Given the description of an element on the screen output the (x, y) to click on. 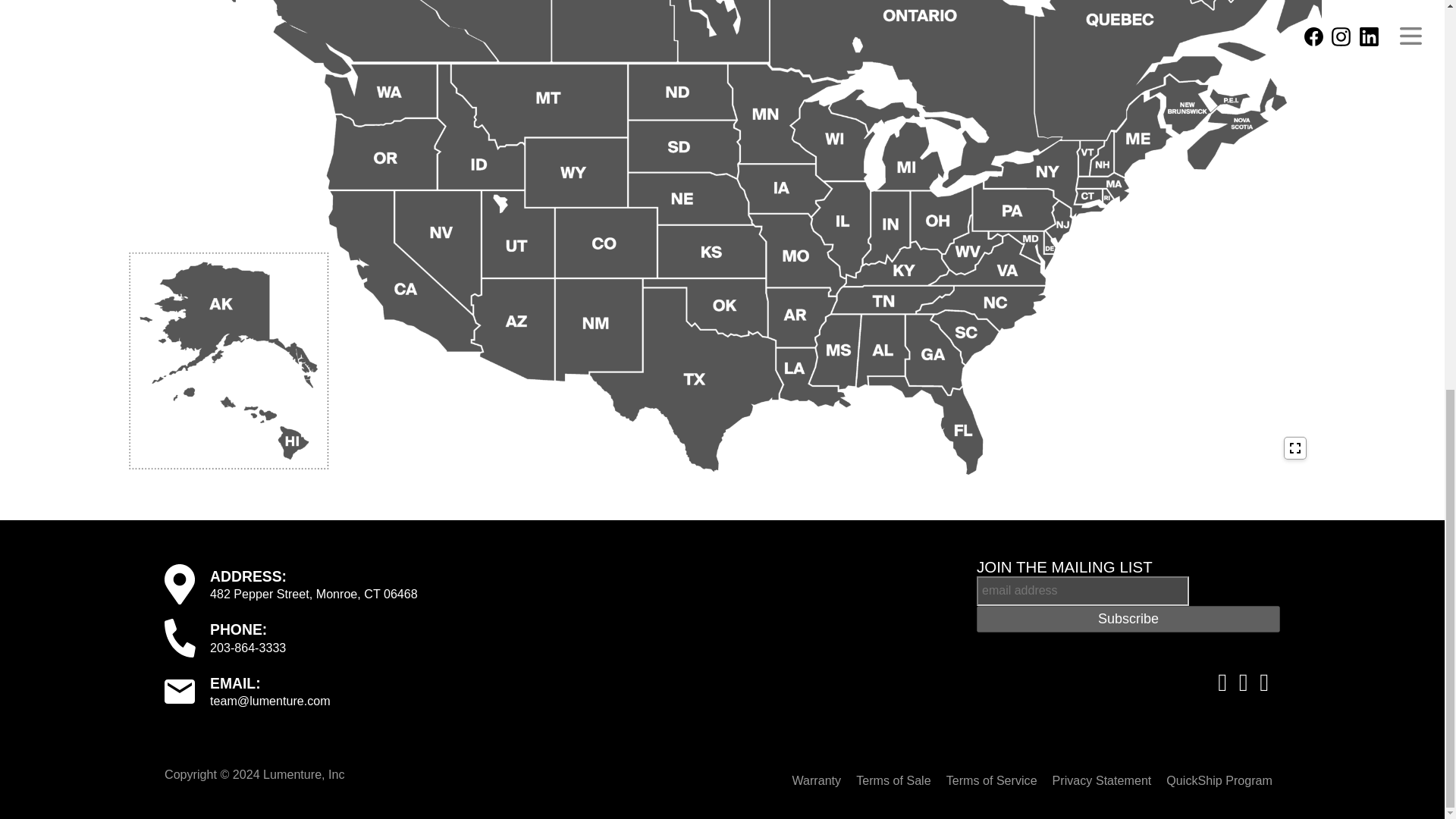
linkedin (1263, 682)
instagram (1243, 682)
Subscribe (1127, 619)
facebook (1222, 682)
